Given the description of an element on the screen output the (x, y) to click on. 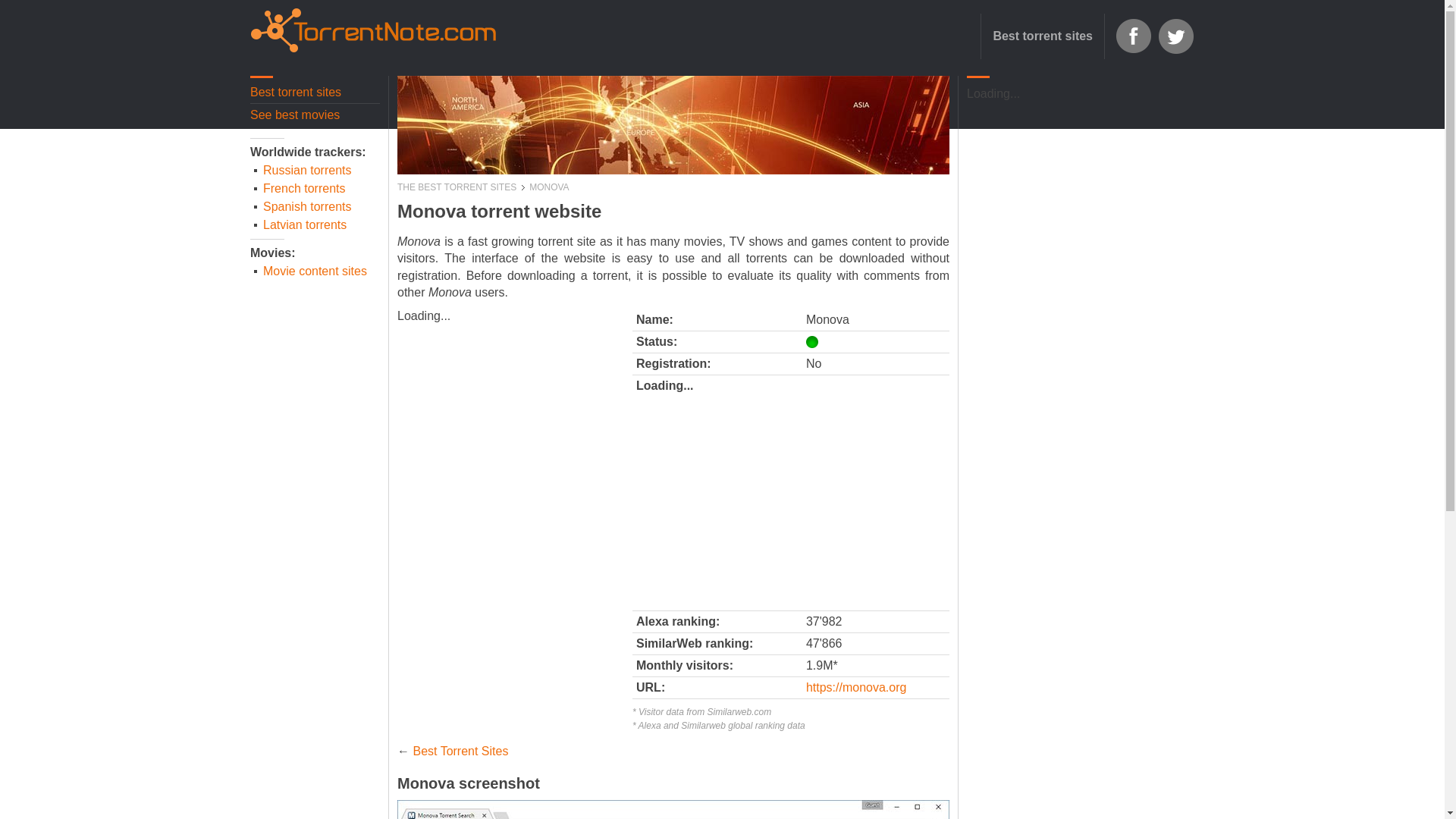
French torrents (316, 188)
THE BEST TORRENT SITES (460, 186)
Spanish torrents (316, 207)
Movie content sites (316, 271)
Facebook (1133, 36)
Best Torrent Sites (460, 750)
See best movies (315, 115)
Twitter (1175, 36)
Russian torrents (316, 170)
Best torrent sites (1042, 35)
